Given the description of an element on the screen output the (x, y) to click on. 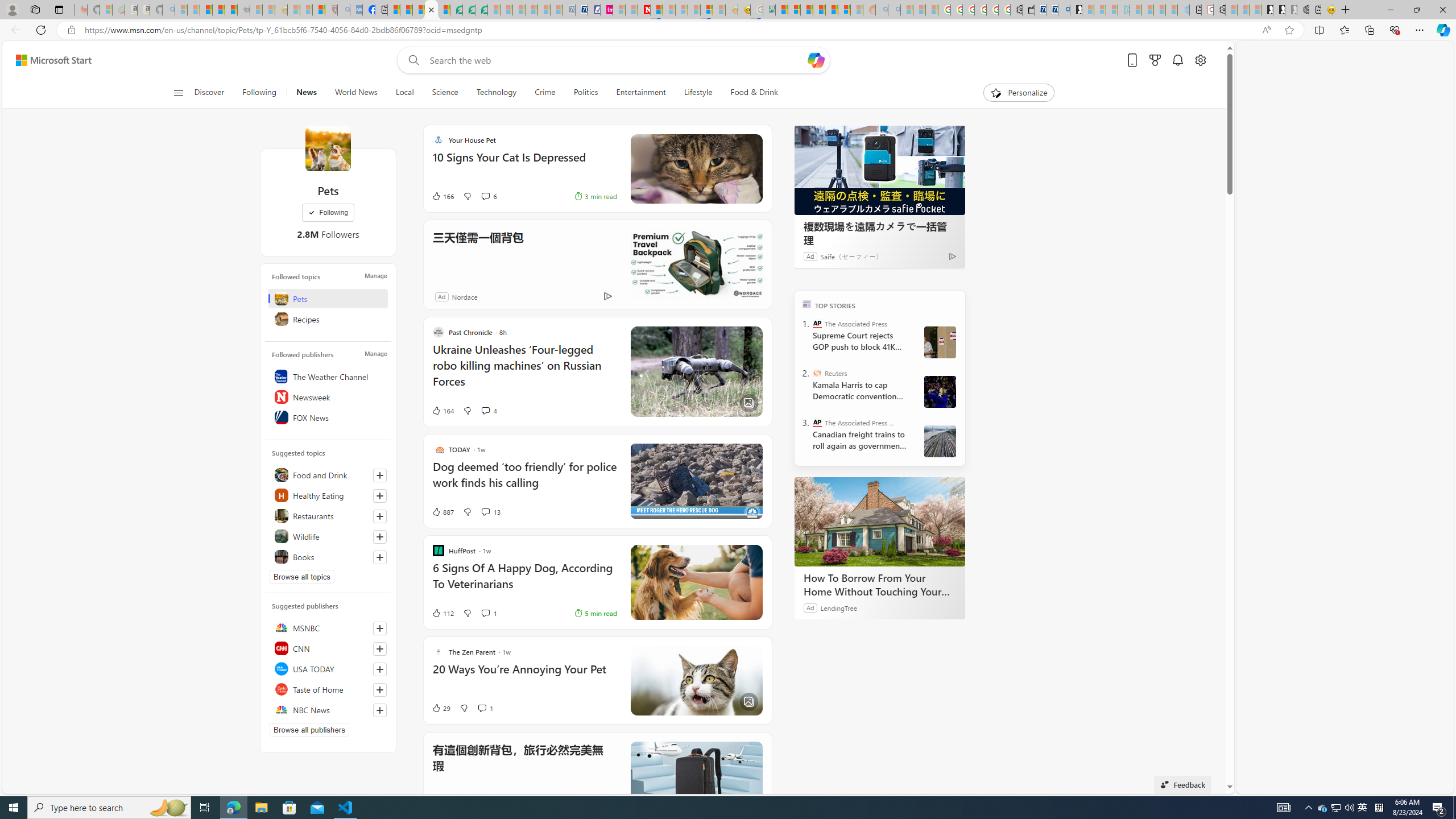
10 Signs Your Cat Is Depressed (524, 163)
Newsweek (327, 397)
Latest Politics News & Archive | Newsweek.com (644, 9)
USA TODAY (327, 668)
